Given the description of an element on the screen output the (x, y) to click on. 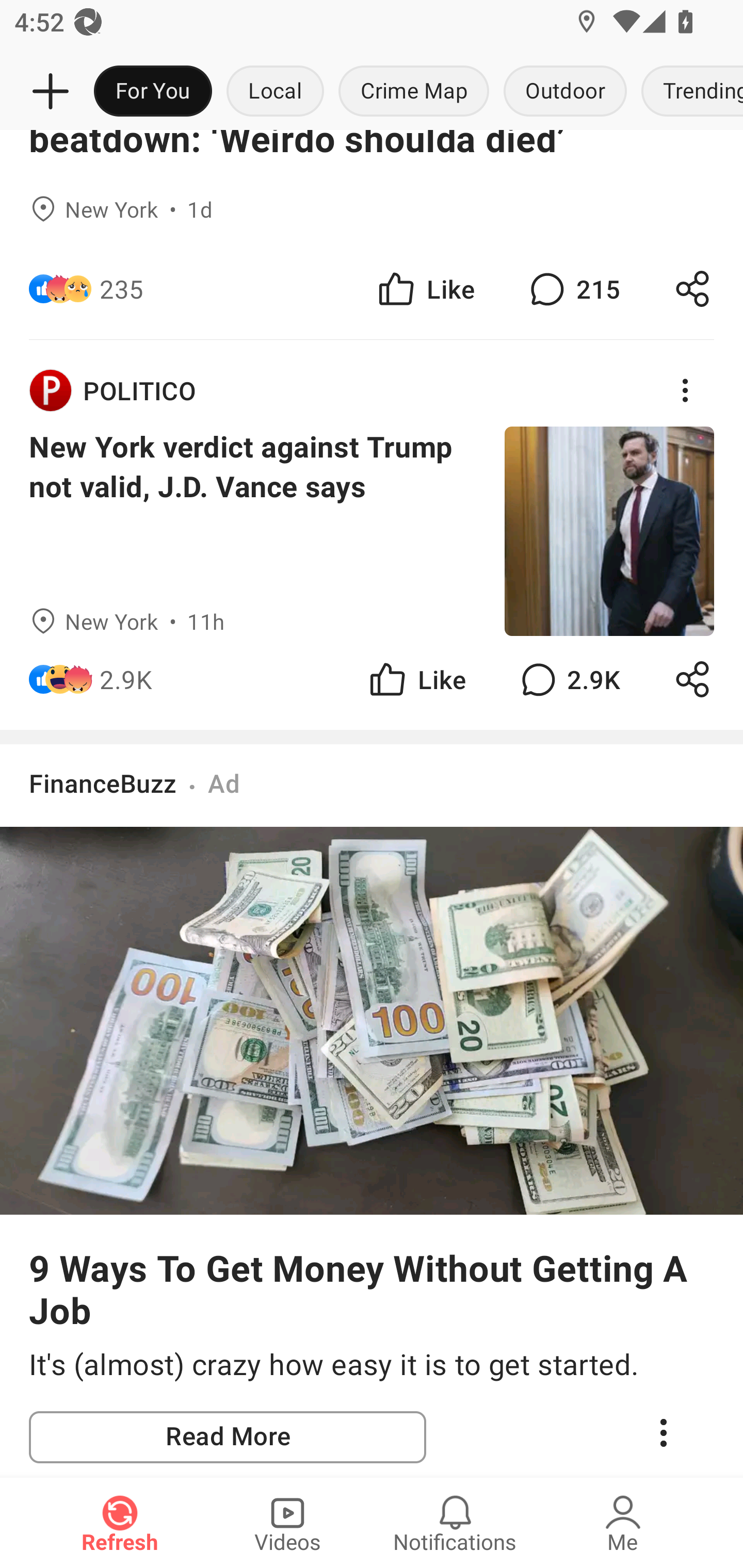
For You (152, 91)
Local (275, 91)
Crime Map (413, 91)
Outdoor (564, 91)
Trending (688, 91)
235 (121, 289)
Like (425, 289)
215 (572, 289)
2.9K (125, 679)
Like (416, 679)
2.9K (568, 679)
FinanceBuzz (102, 782)
9 Ways To Get Money Without Getting A Job (371, 1288)
It's (almost) crazy how easy it is to get started. (371, 1365)
Read More (227, 1436)
Videos (287, 1522)
Notifications (455, 1522)
Me (622, 1522)
